Given the description of an element on the screen output the (x, y) to click on. 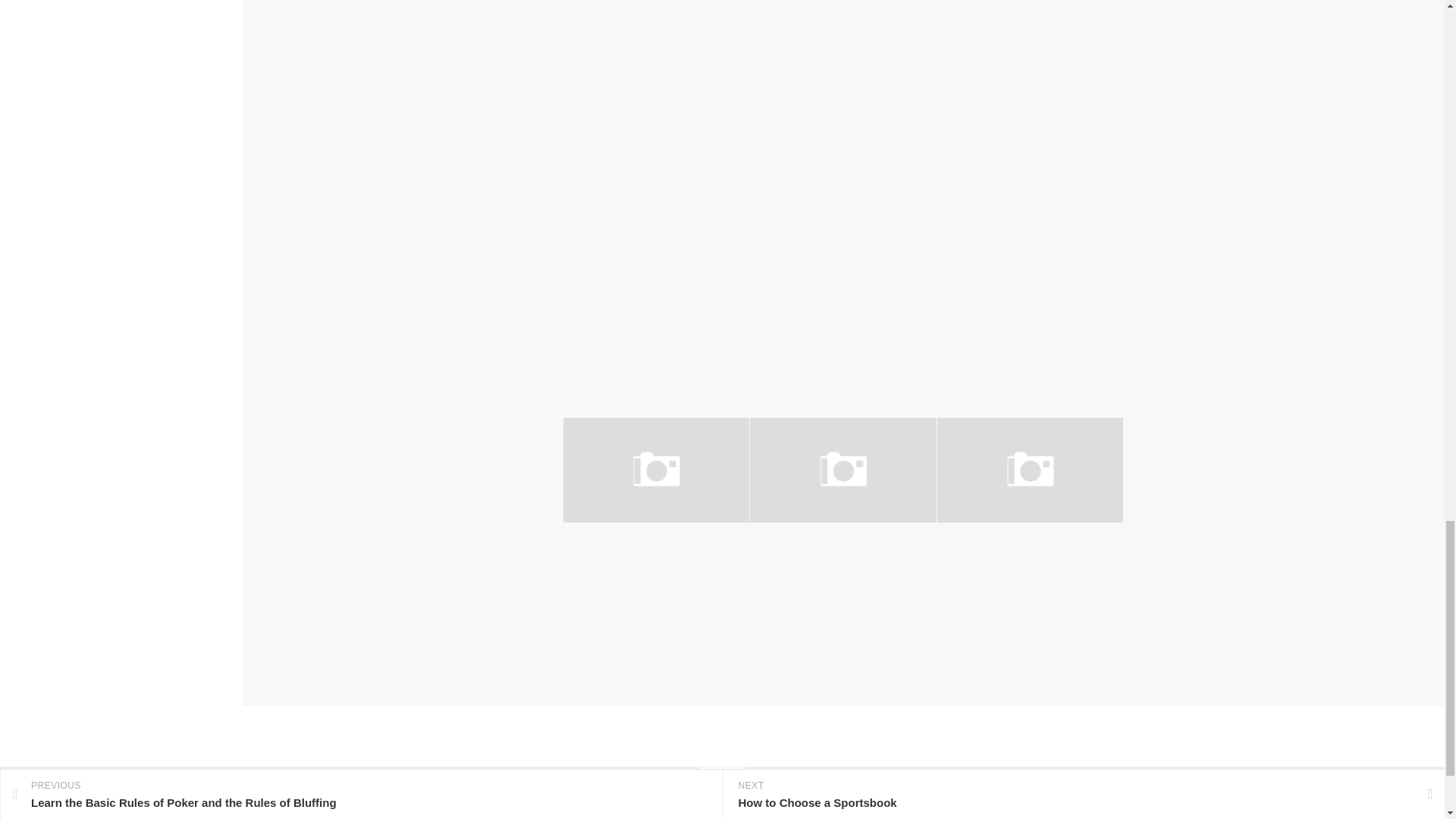
Panduan Bermain Situs Poker Online IDN untuk Pemula (817, 563)
